Given the description of an element on the screen output the (x, y) to click on. 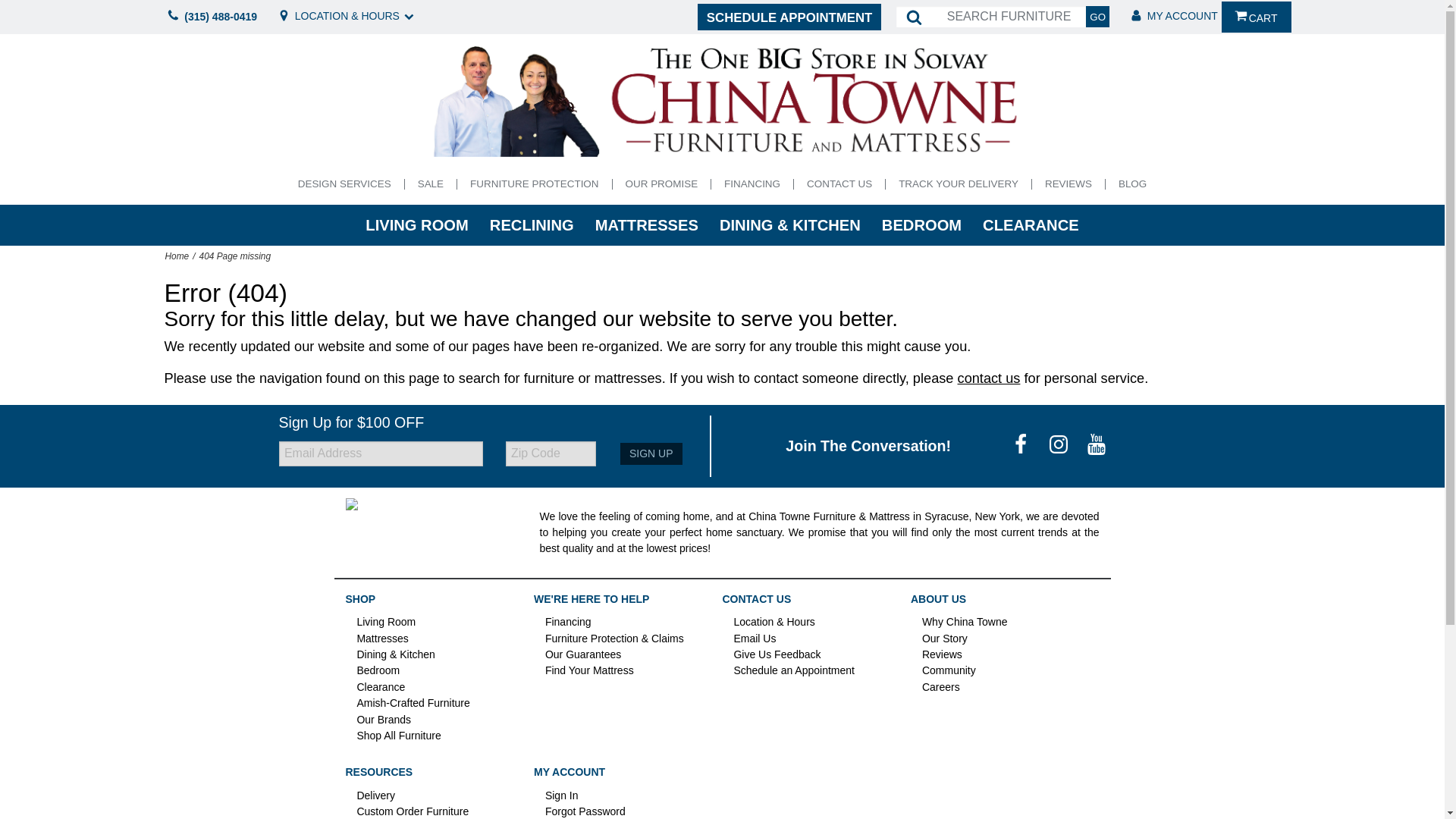
REVIEWS (1068, 184)
FURNITURE PROTECTION (533, 184)
MY ACCOUNT (1172, 16)
Store details (345, 16)
View Cart (1256, 16)
LIVING ROOM (417, 224)
SCHEDULE APPOINTMENT (788, 17)
CART (1256, 16)
DESIGN SERVICES (344, 184)
TRACK YOUR DELIVERY (958, 184)
